Given the description of an element on the screen output the (x, y) to click on. 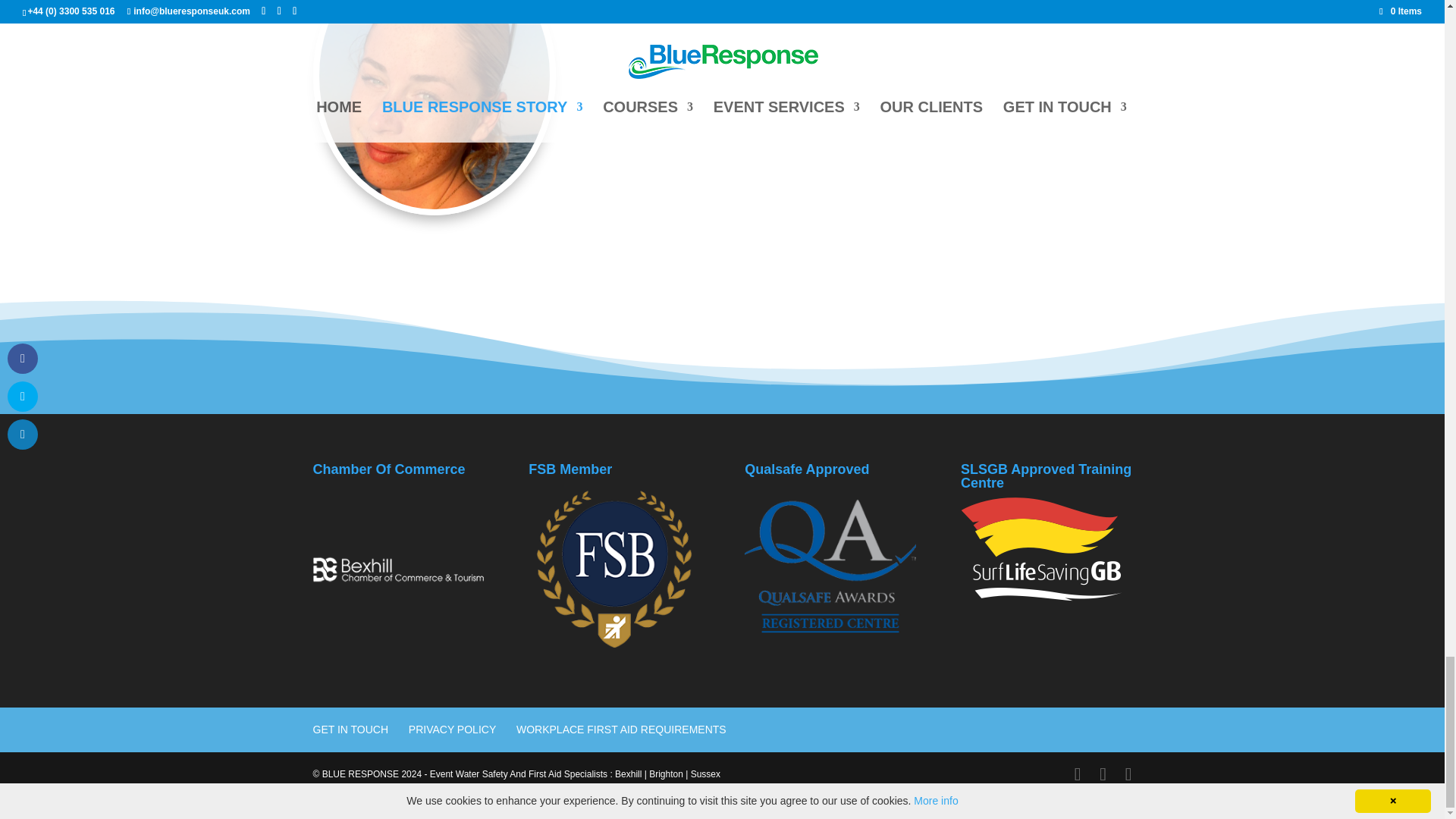
Daisy C cut (433, 104)
